Given the description of an element on the screen output the (x, y) to click on. 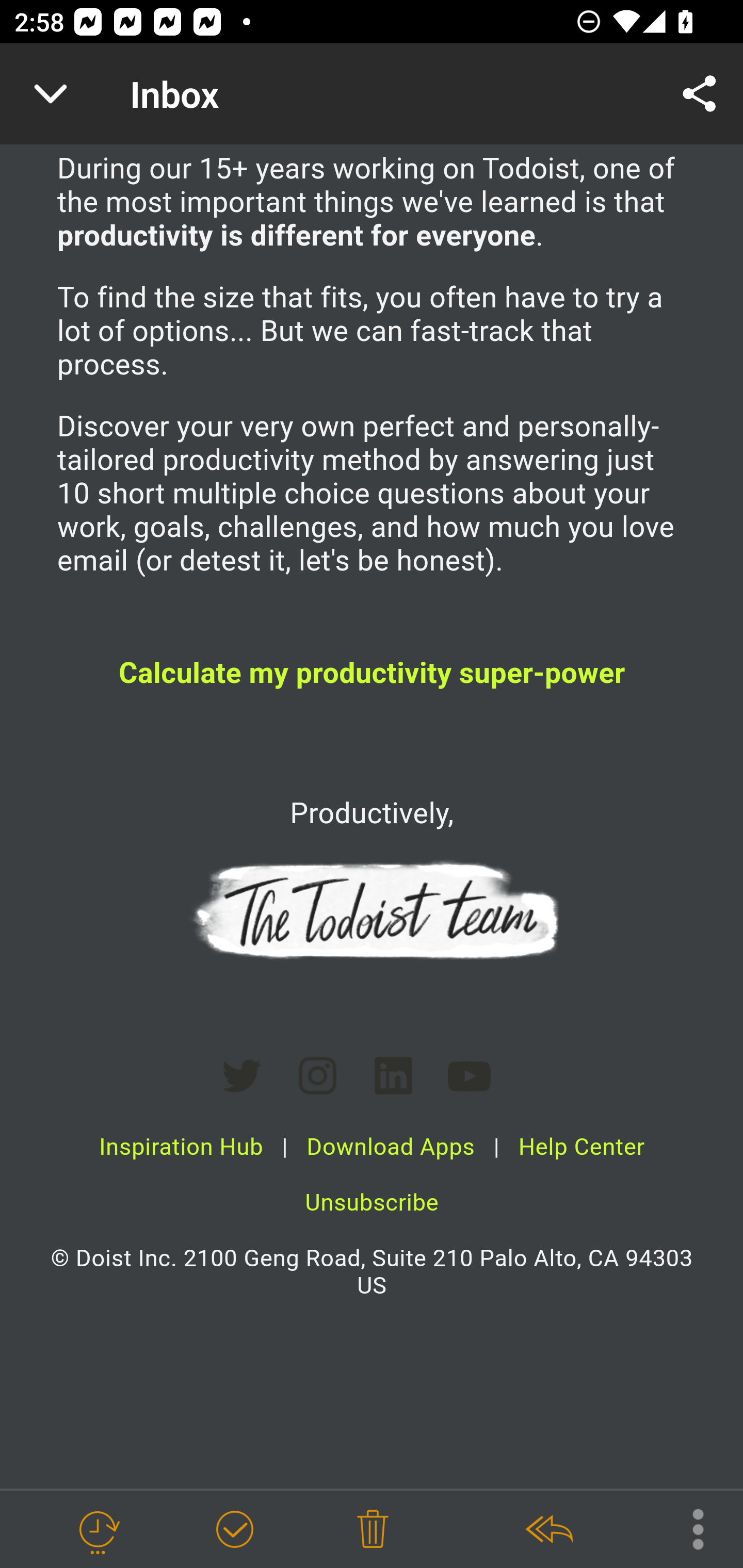
Navigate up (50, 93)
Share (699, 93)
Calculate my productivity super-power (371, 674)
Inspiration Hub (180, 1147)
Download Apps (390, 1147)
Help Center (581, 1147)
Unsubscribe (371, 1204)
More Options (687, 1528)
Snooze (97, 1529)
Mark as Done (234, 1529)
Delete (372, 1529)
Reply All (548, 1529)
